Given the description of an element on the screen output the (x, y) to click on. 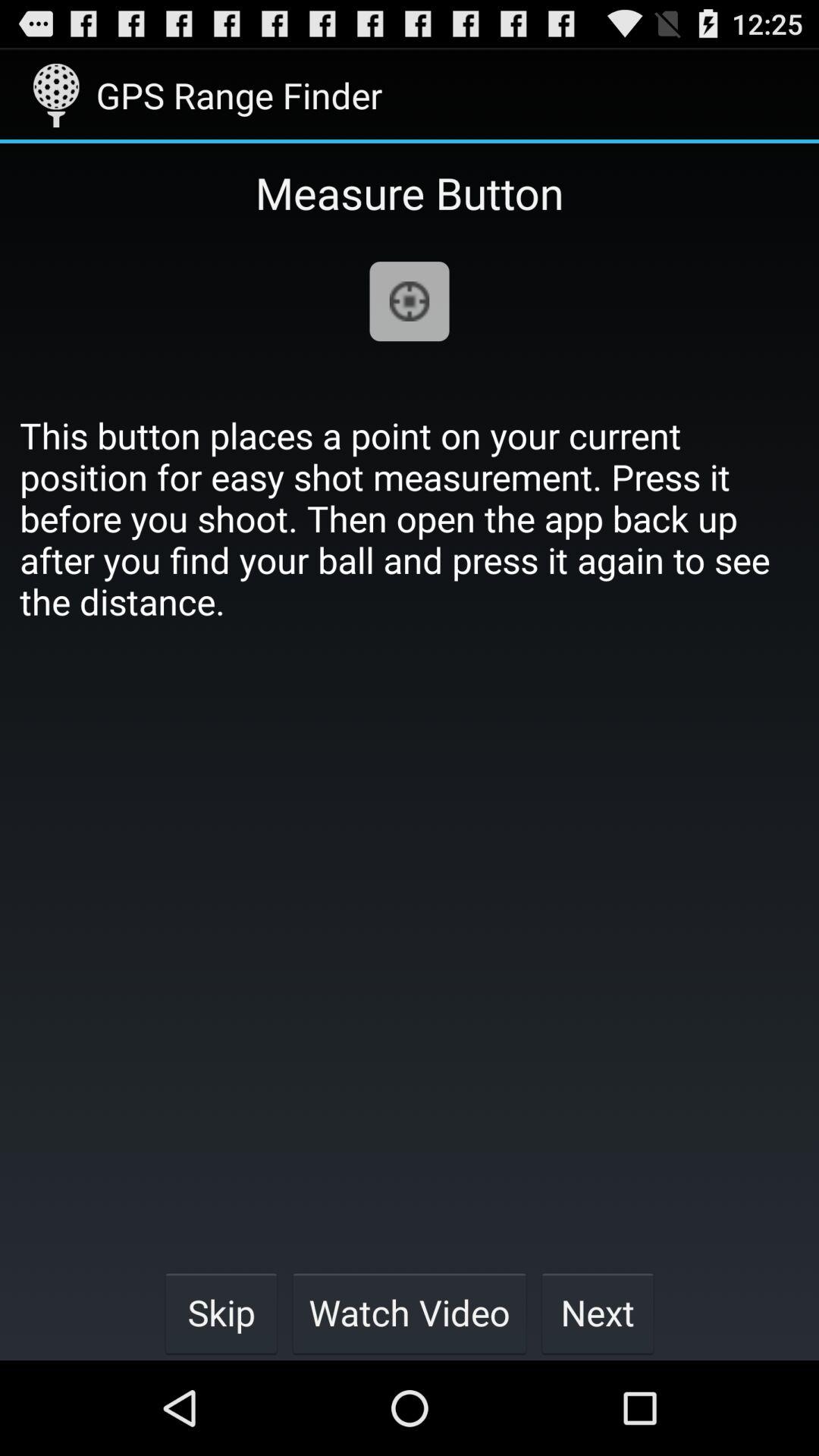
choose button at the bottom right corner (597, 1312)
